Given the description of an element on the screen output the (x, y) to click on. 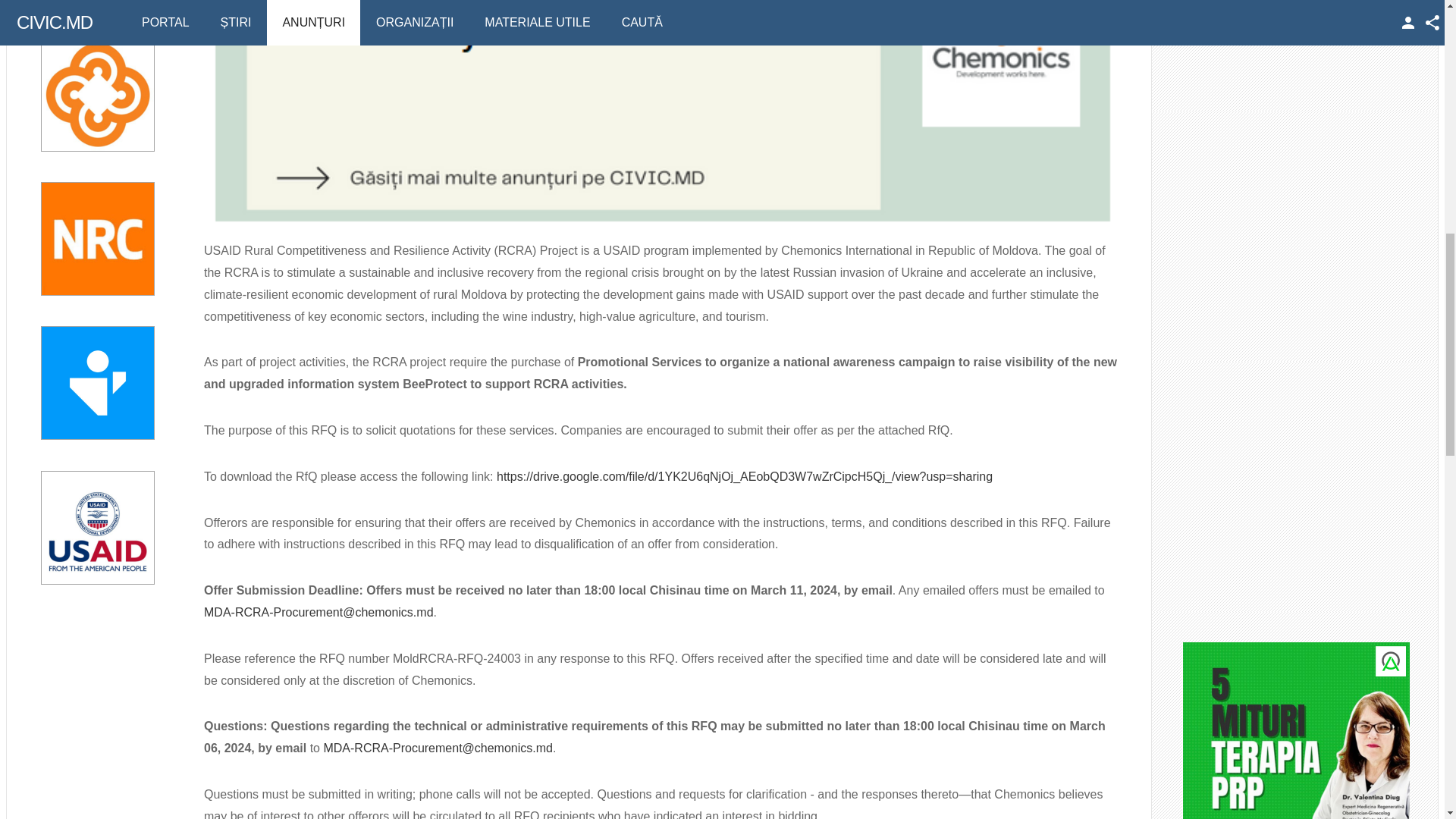
HR Consulting (97, 382)
Chemonics (97, 94)
USAID Moldova (97, 527)
Safeguard Global (97, 3)
Norwegian Refugee Council (97, 238)
